Given the description of an element on the screen output the (x, y) to click on. 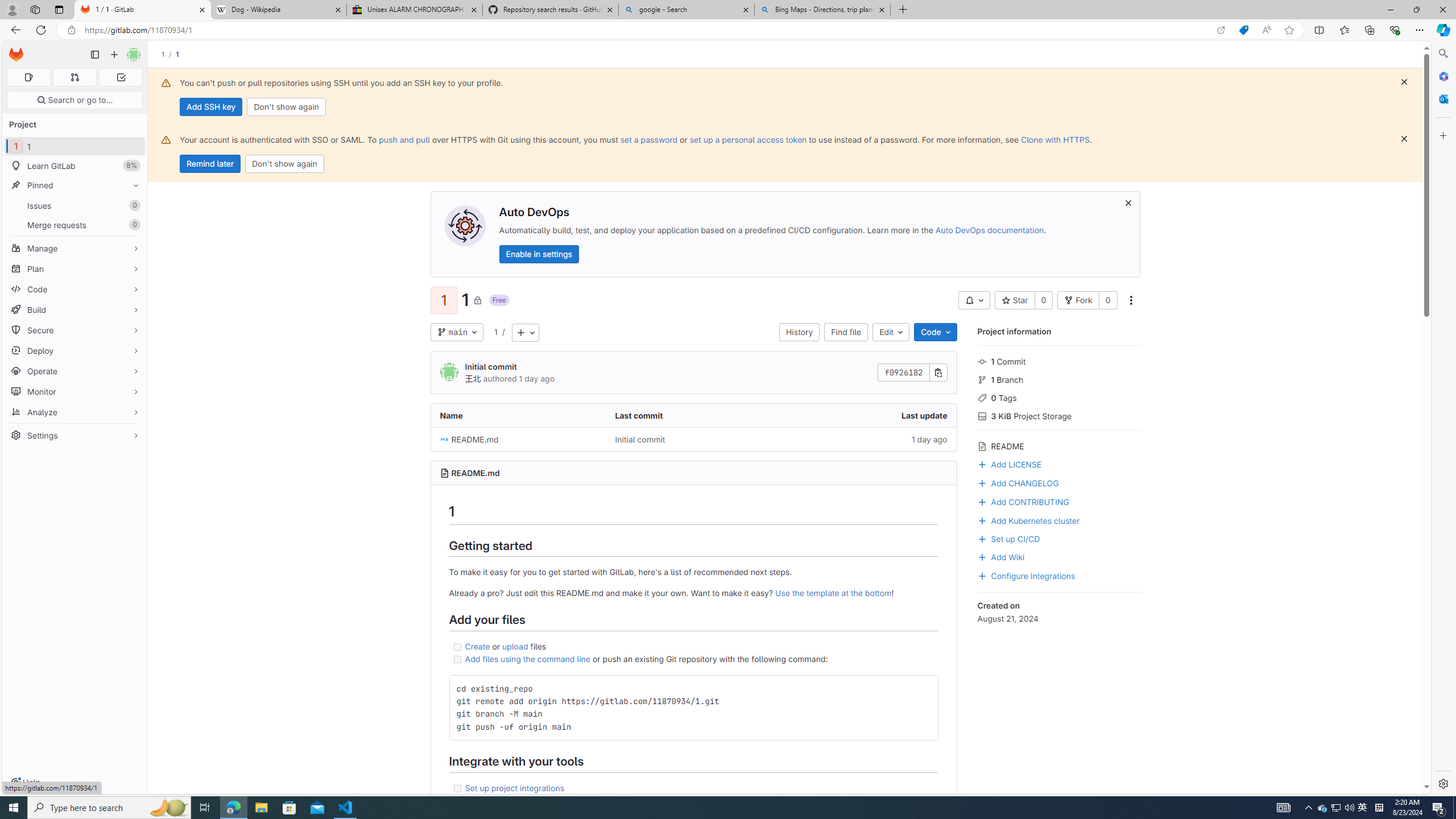
1 Commit (1058, 360)
Open in app (1220, 29)
Skip to main content (13, 49)
1 (495, 331)
Add LICENSE (1058, 463)
Add Wiki (1000, 555)
main (456, 331)
Add Kubernetes cluster (1058, 519)
Build (74, 309)
Manage (74, 248)
Class: s16 icon (477, 299)
README (1058, 444)
set up a personal access token (747, 139)
